Given the description of an element on the screen output the (x, y) to click on. 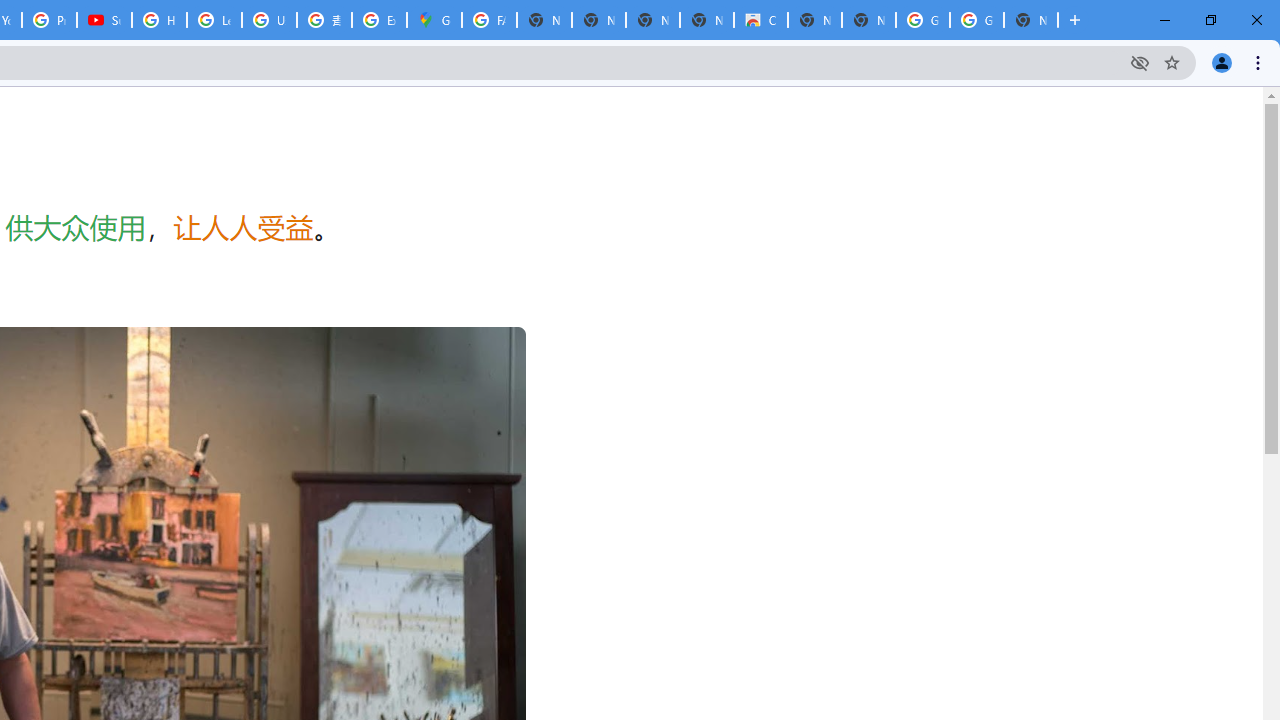
Google Images (922, 20)
Explore new street-level details - Google Maps Help (379, 20)
